Given the description of an element on the screen output the (x, y) to click on. 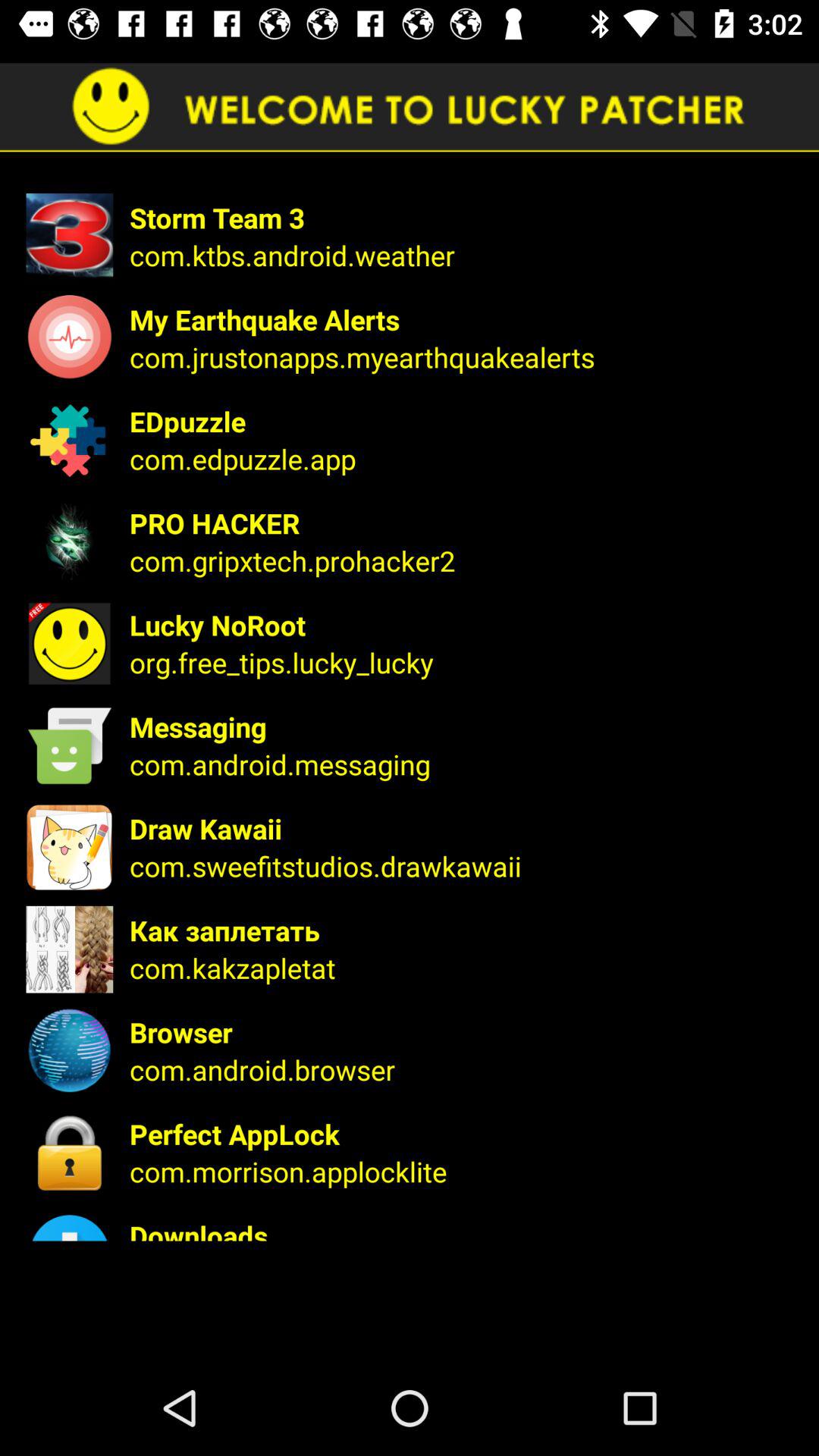
tap item above the org.free_tips.lucky_lucky icon (464, 624)
